Given the description of an element on the screen output the (x, y) to click on. 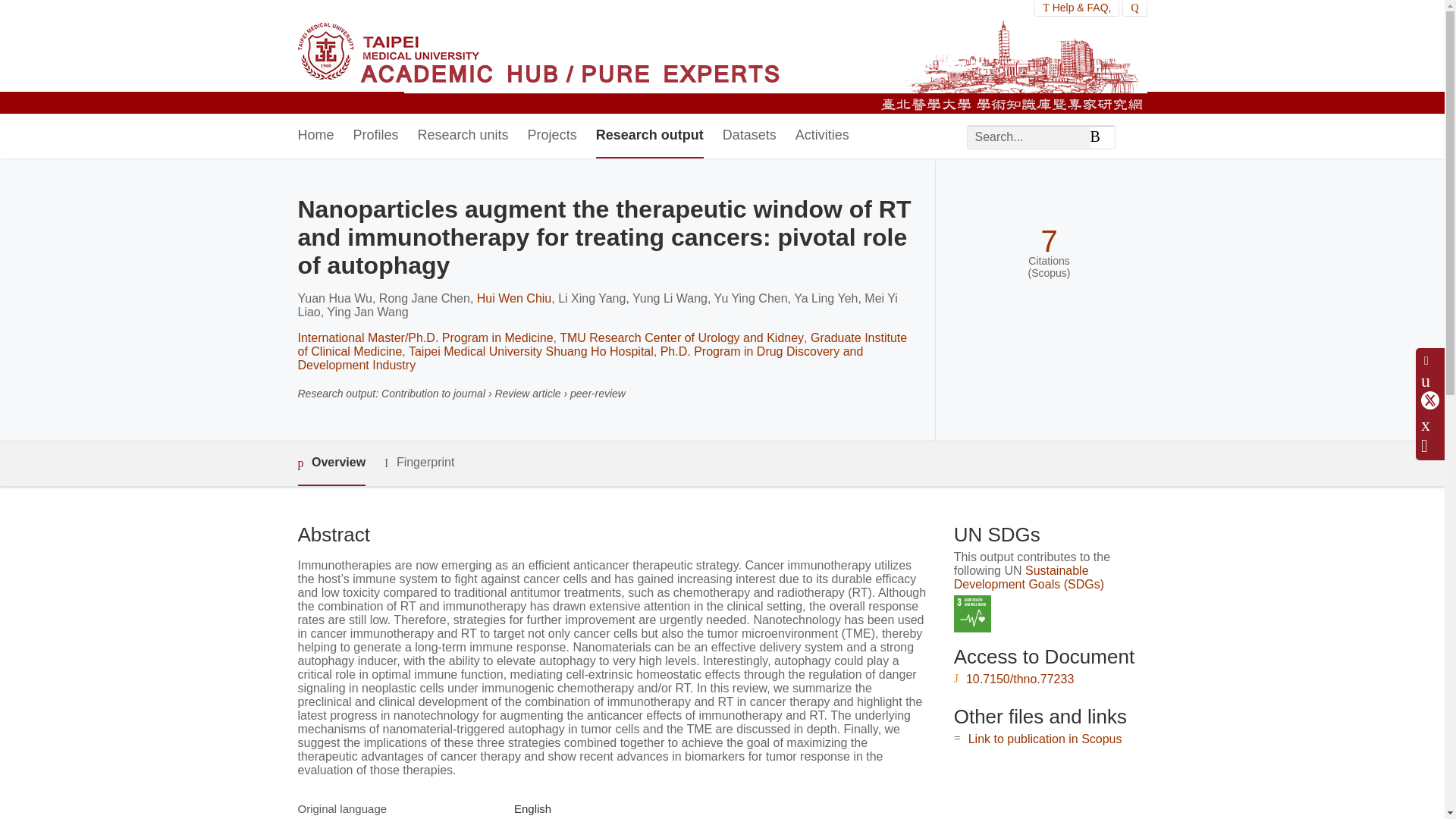
Taipei Medical University Home (537, 56)
Hui Wen Chiu (514, 297)
Projects (551, 135)
Overview (331, 463)
Research output (649, 135)
Taipei Medical University Shuang Ho Hospital (531, 350)
Profiles (375, 135)
Research units (462, 135)
Activities (821, 135)
